Given the description of an element on the screen output the (x, y) to click on. 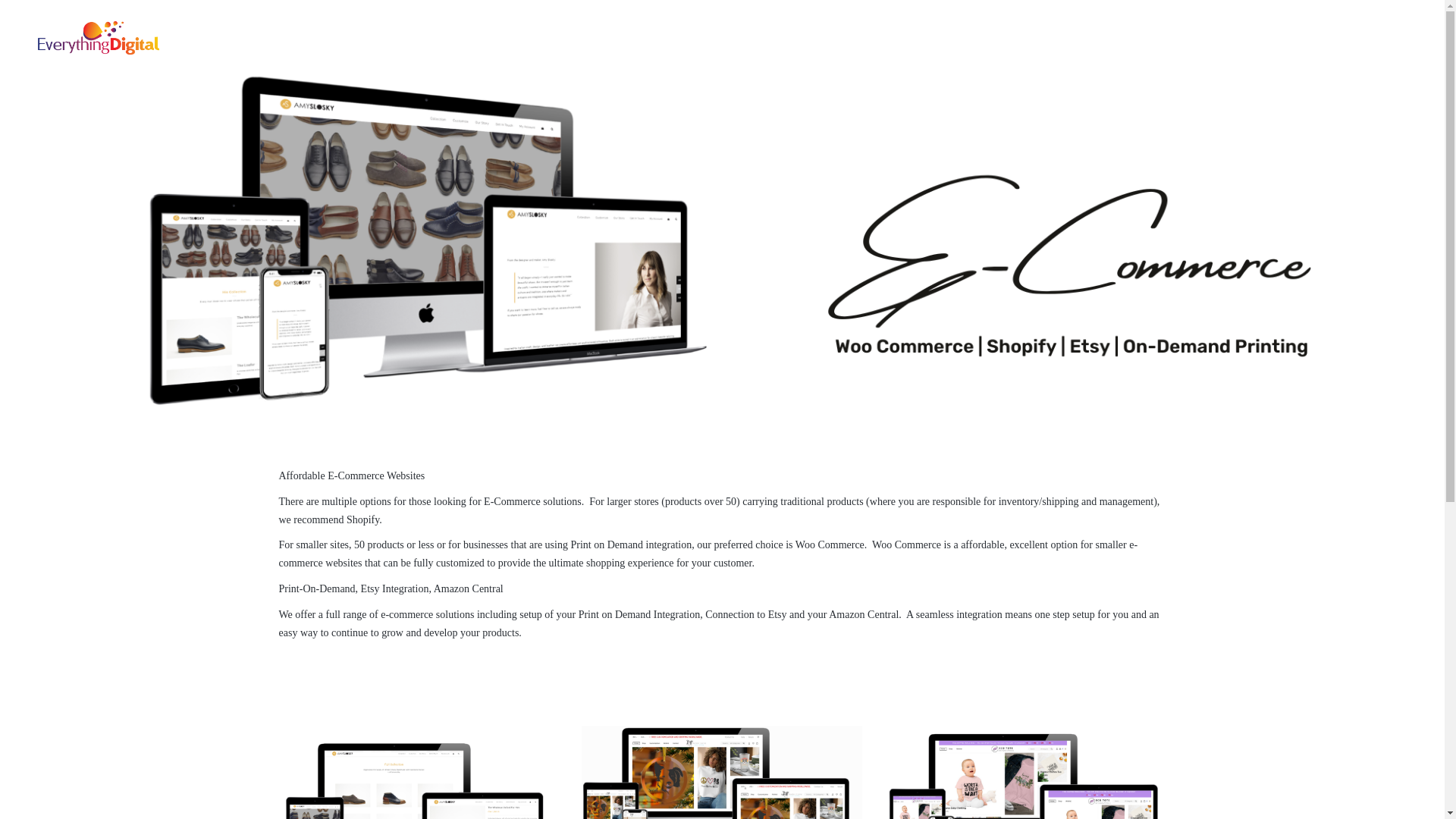
SHOWCASE (1072, 37)
SMALL BUSINESS (743, 37)
FRESH FROM THE PRESS (1198, 37)
CONTACT (1374, 37)
ABOUT (1308, 37)
